Given the description of an element on the screen output the (x, y) to click on. 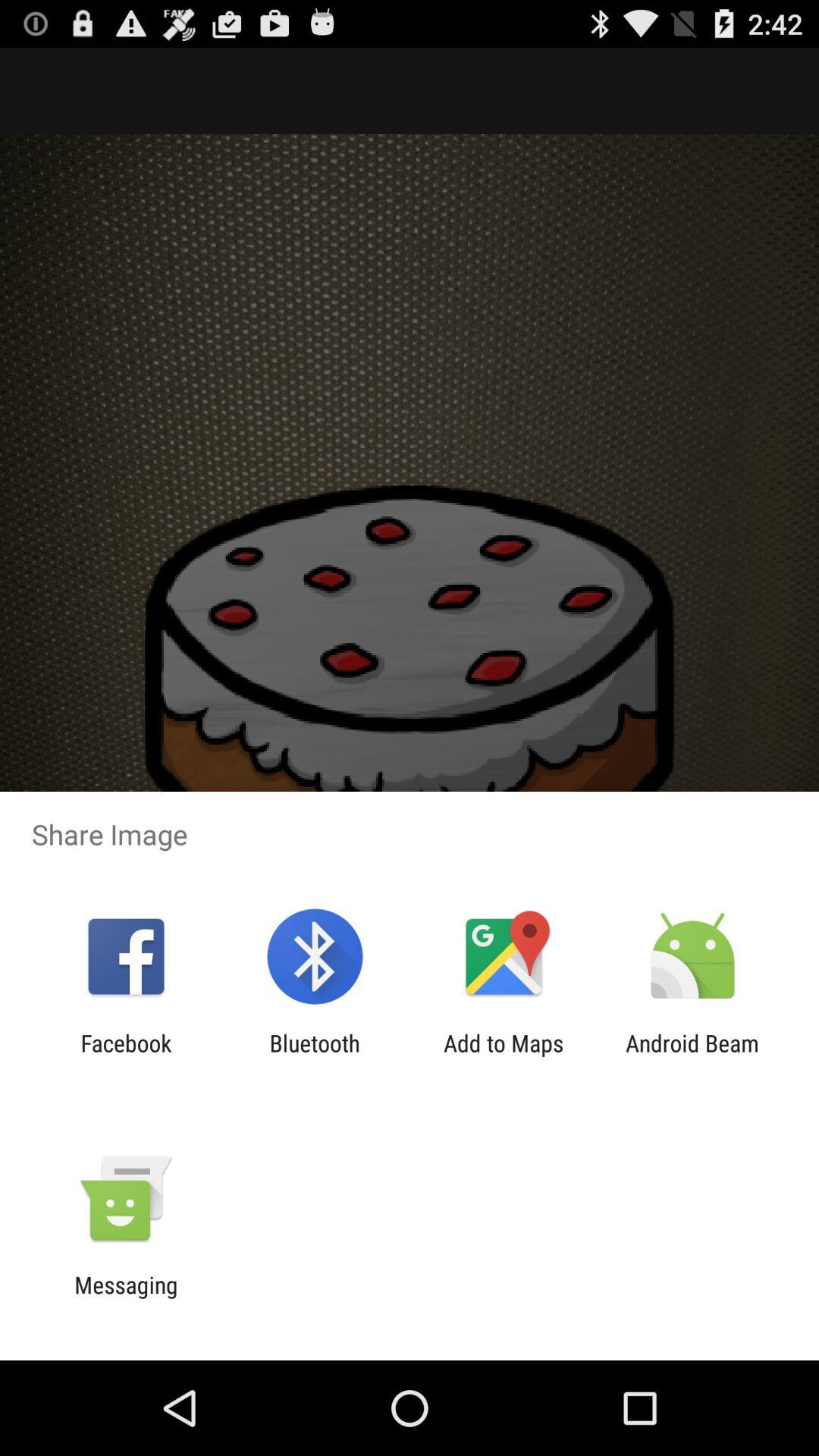
click the app next to android beam icon (503, 1056)
